Given the description of an element on the screen output the (x, y) to click on. 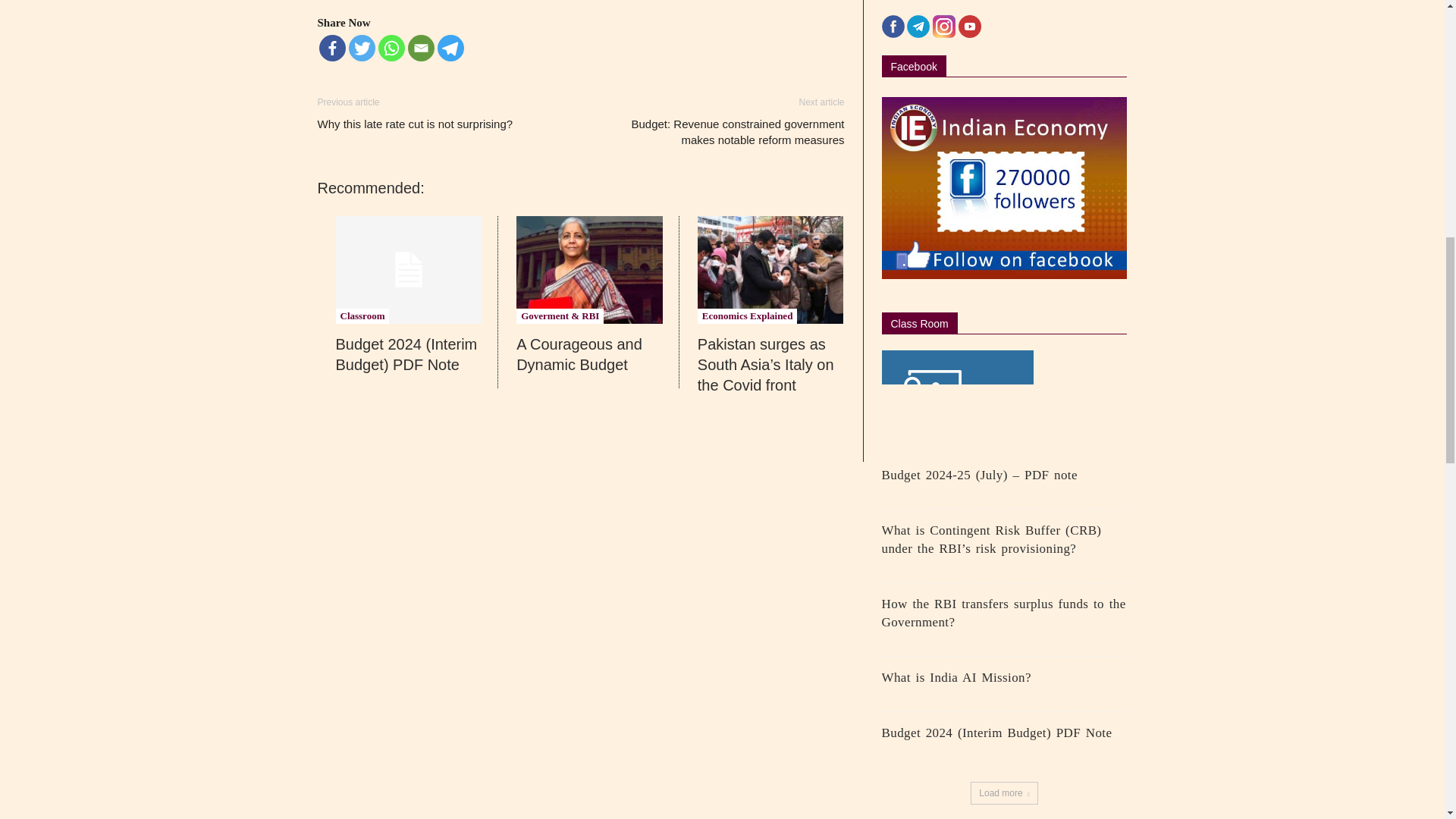
Email (420, 48)
Telegram (449, 48)
Twitter (362, 48)
Facebook (331, 48)
Whatsapp (390, 48)
